Given the description of an element on the screen output the (x, y) to click on. 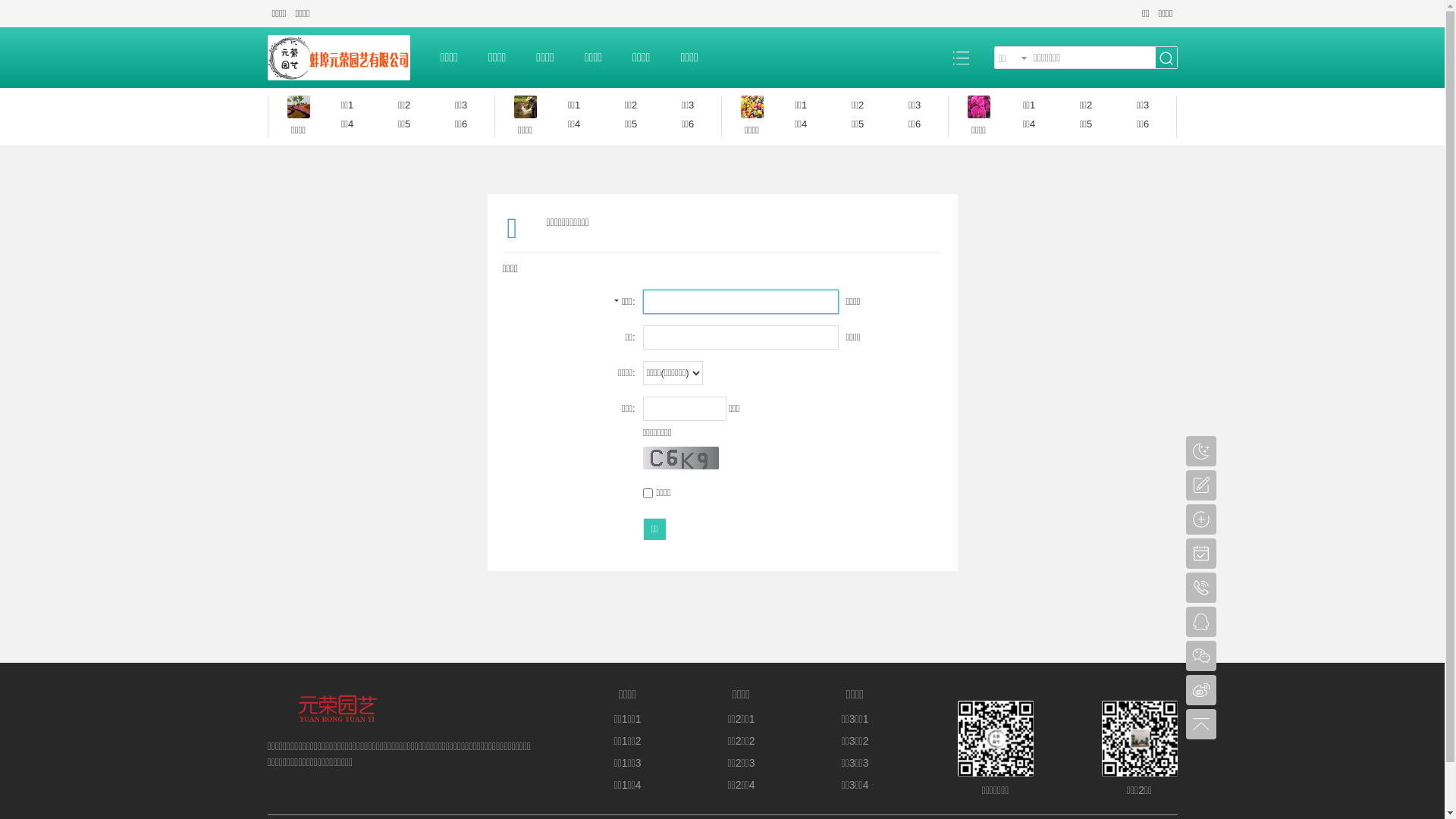
true Element type: text (1165, 57)
